Given the description of an element on the screen output the (x, y) to click on. 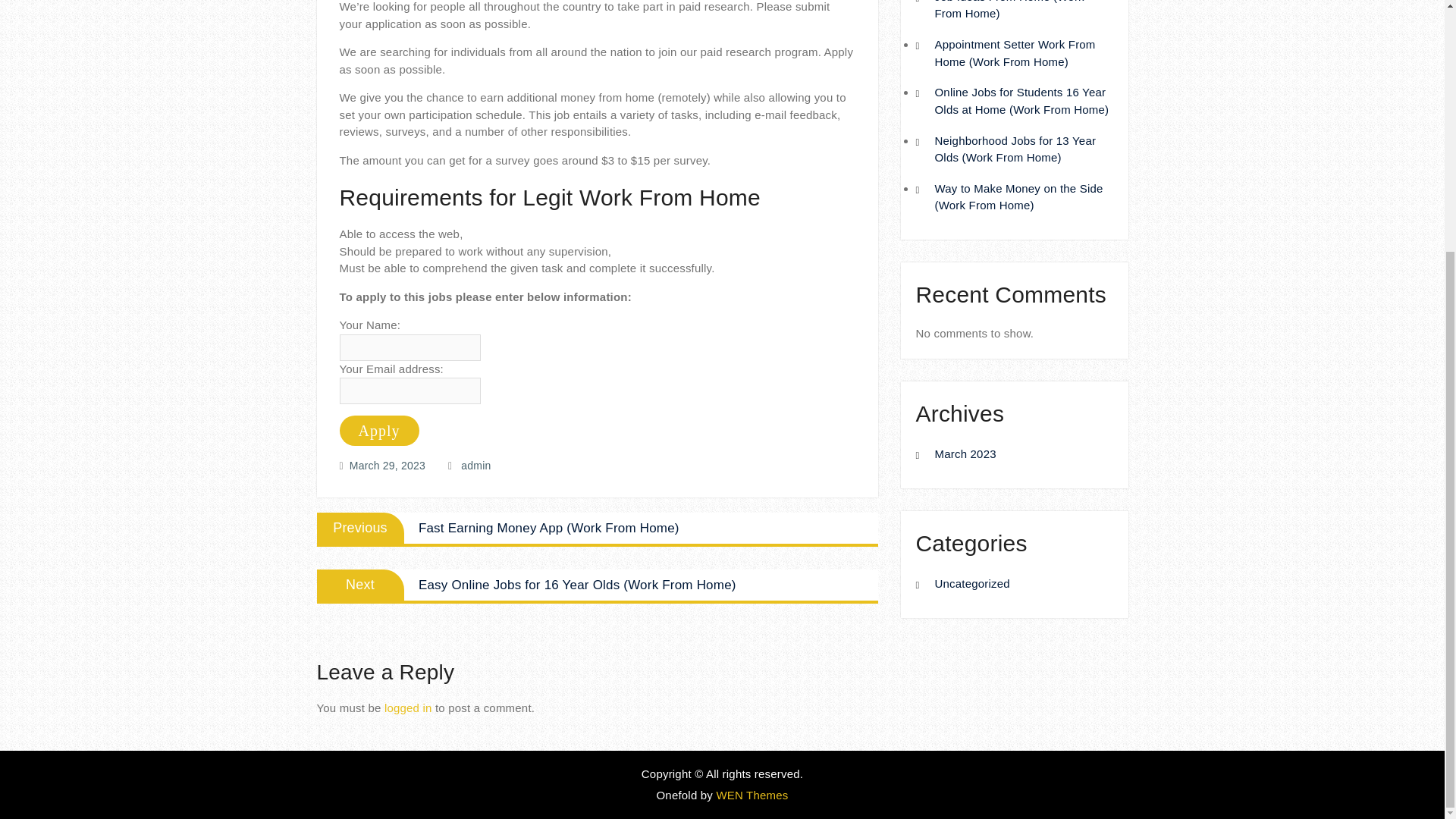
WEN Themes (751, 794)
logged in (408, 707)
Apply (379, 430)
Uncategorized (971, 583)
Apply (379, 430)
admin (475, 465)
March 2023 (964, 453)
March 29, 2023 (387, 465)
